Given the description of an element on the screen output the (x, y) to click on. 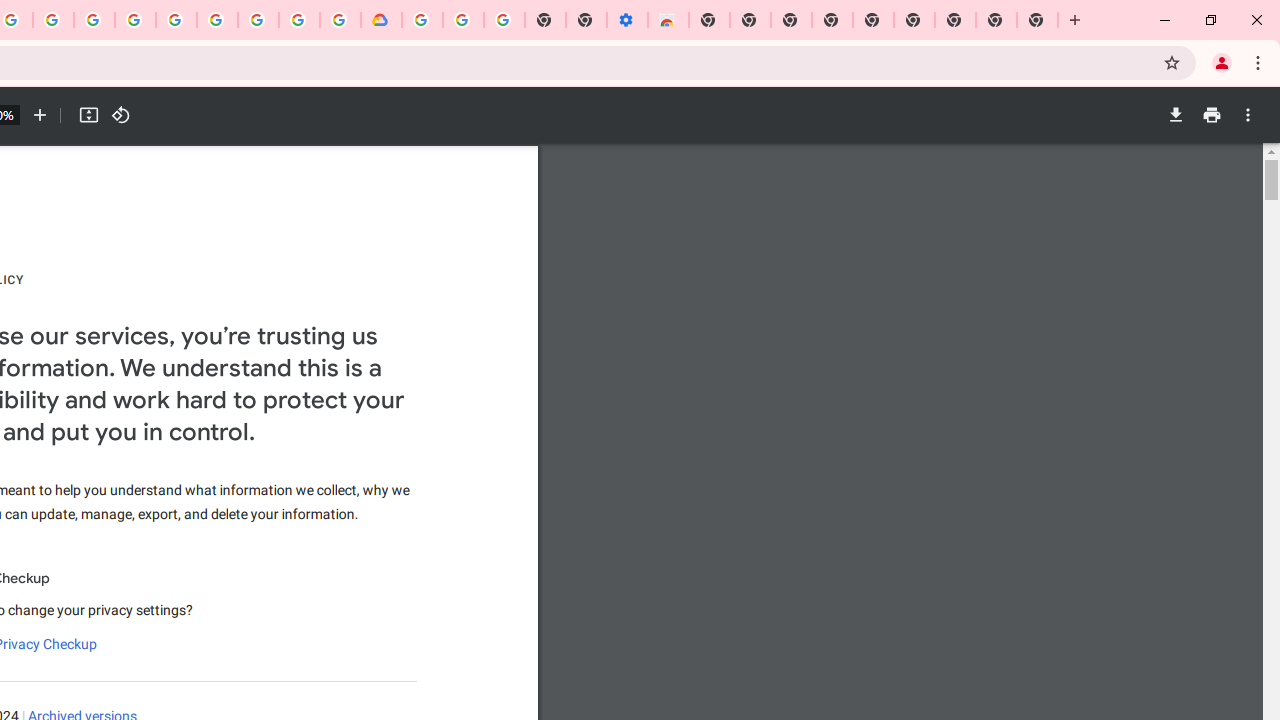
Download (1175, 115)
Rotate counterclockwise (119, 115)
Google Account Help (217, 20)
Create your Google Account (53, 20)
Chrome Web Store - Accessibility extensions (667, 20)
Sign in - Google Accounts (421, 20)
Google Account Help (462, 20)
New Tab (1037, 20)
Settings - Accessibility (626, 20)
